Given the description of an element on the screen output the (x, y) to click on. 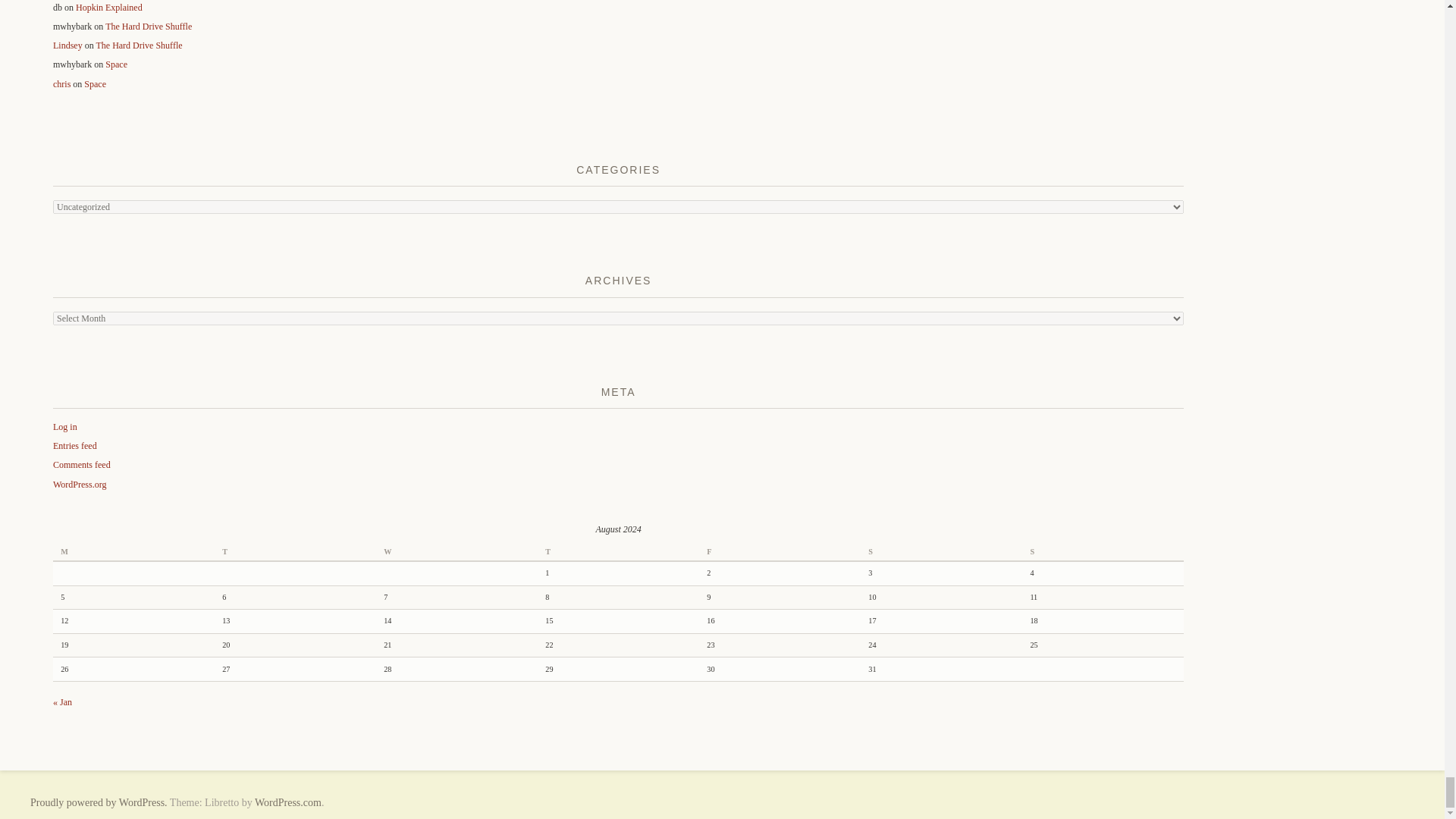
Saturday (941, 552)
Sunday (1102, 552)
Monday (133, 552)
Tuesday (294, 552)
Friday (779, 552)
Wednesday (456, 552)
Thursday (617, 552)
